Given the description of an element on the screen output the (x, y) to click on. 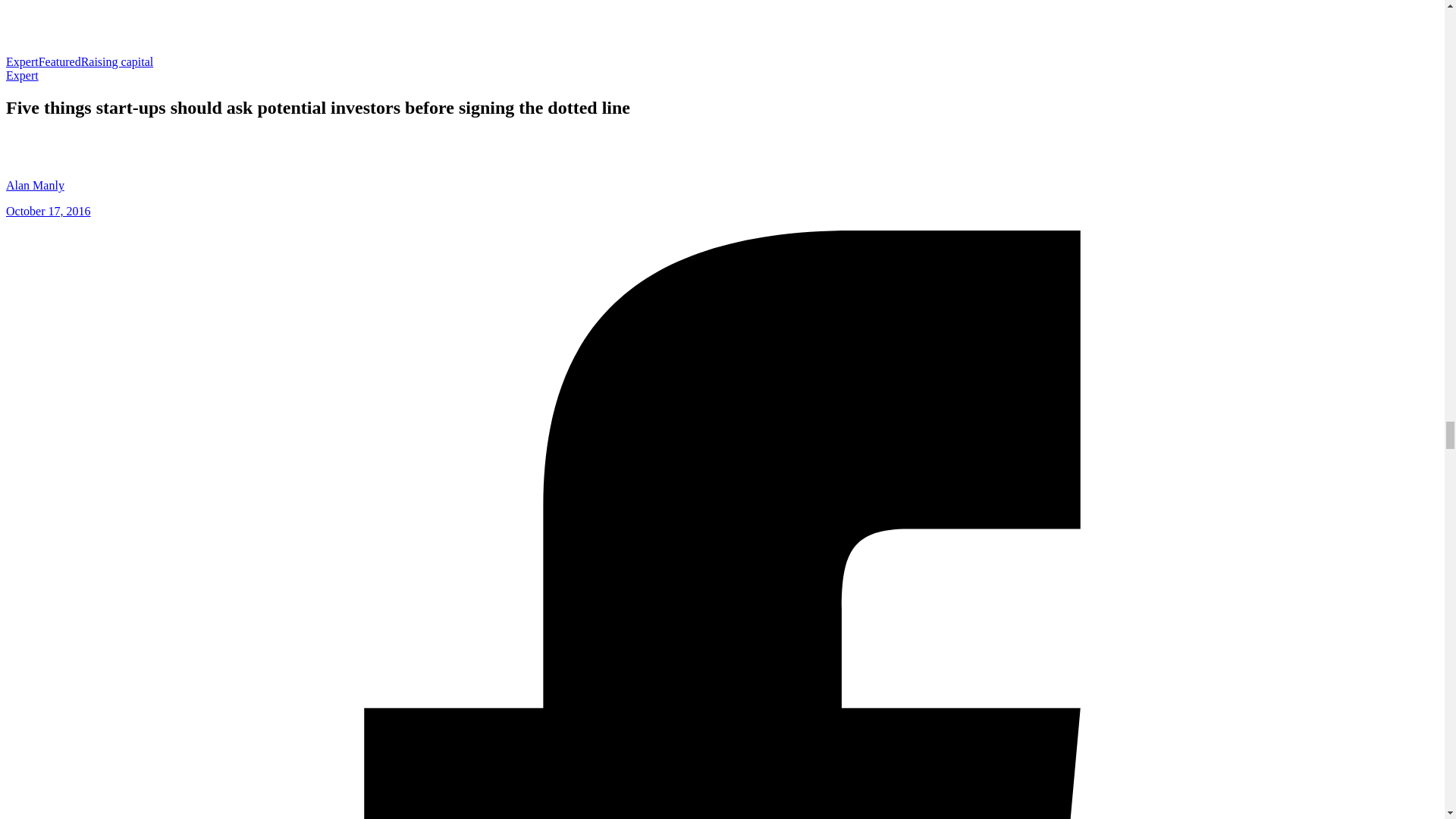
Featured (60, 61)
Expert (22, 74)
Expert (22, 61)
Raising capital (117, 61)
